Given the description of an element on the screen output the (x, y) to click on. 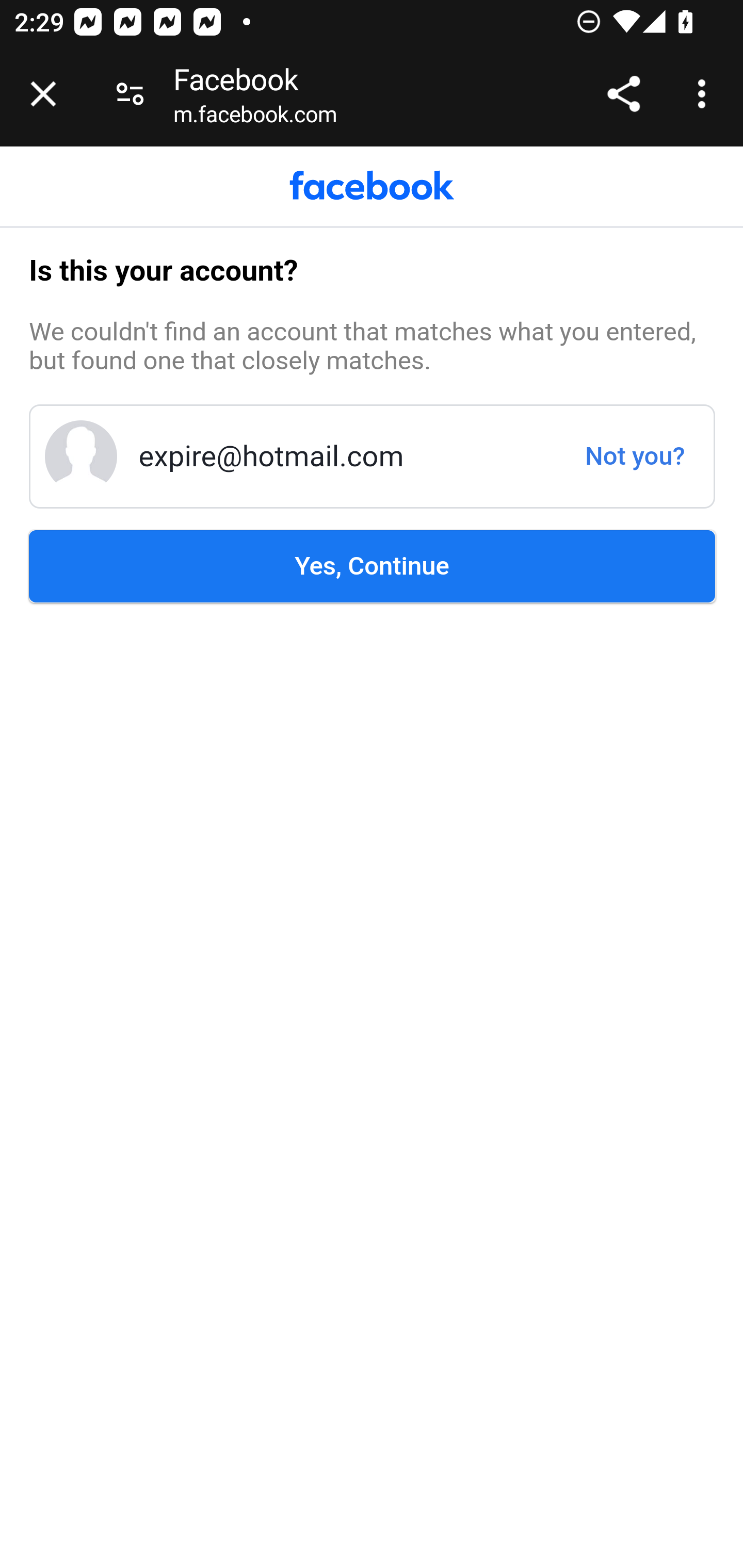
Close tab (43, 93)
Share link address (623, 93)
Customize and control Google Chrome (705, 93)
Connection is secure (129, 93)
m.facebook.com (254, 117)
Facebook (371, 185)
Not you? (641, 455)
Yes, Continue (372, 565)
